Given the description of an element on the screen output the (x, y) to click on. 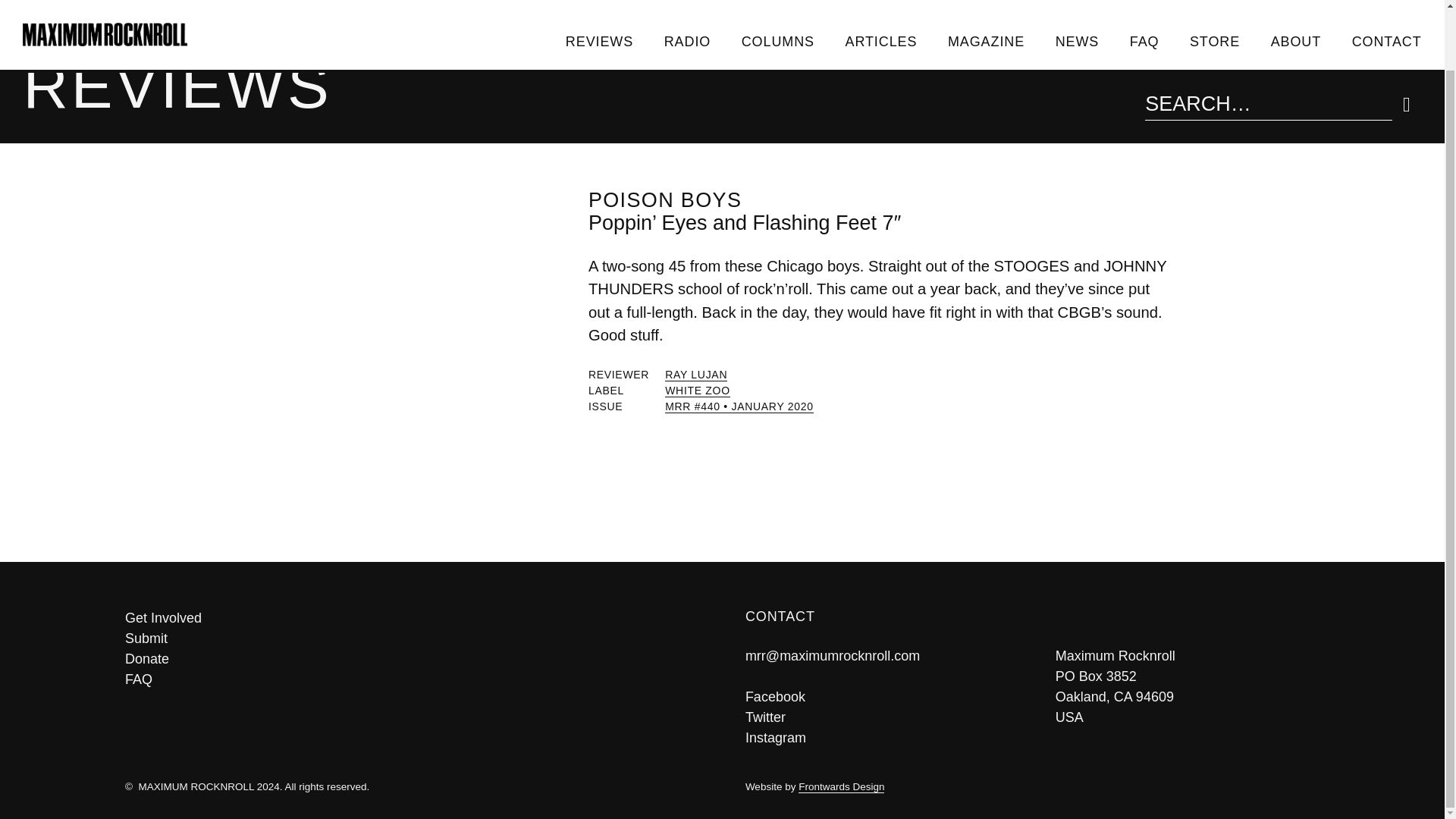
WHITE ZOO (697, 390)
Instagram (775, 737)
Frontwards Design (840, 787)
Facebook (775, 696)
FAQ (411, 679)
Donate (411, 659)
Submit (411, 638)
Twitter (765, 717)
POISON BOYS (664, 200)
Get Involved (411, 618)
